Given the description of an element on the screen output the (x, y) to click on. 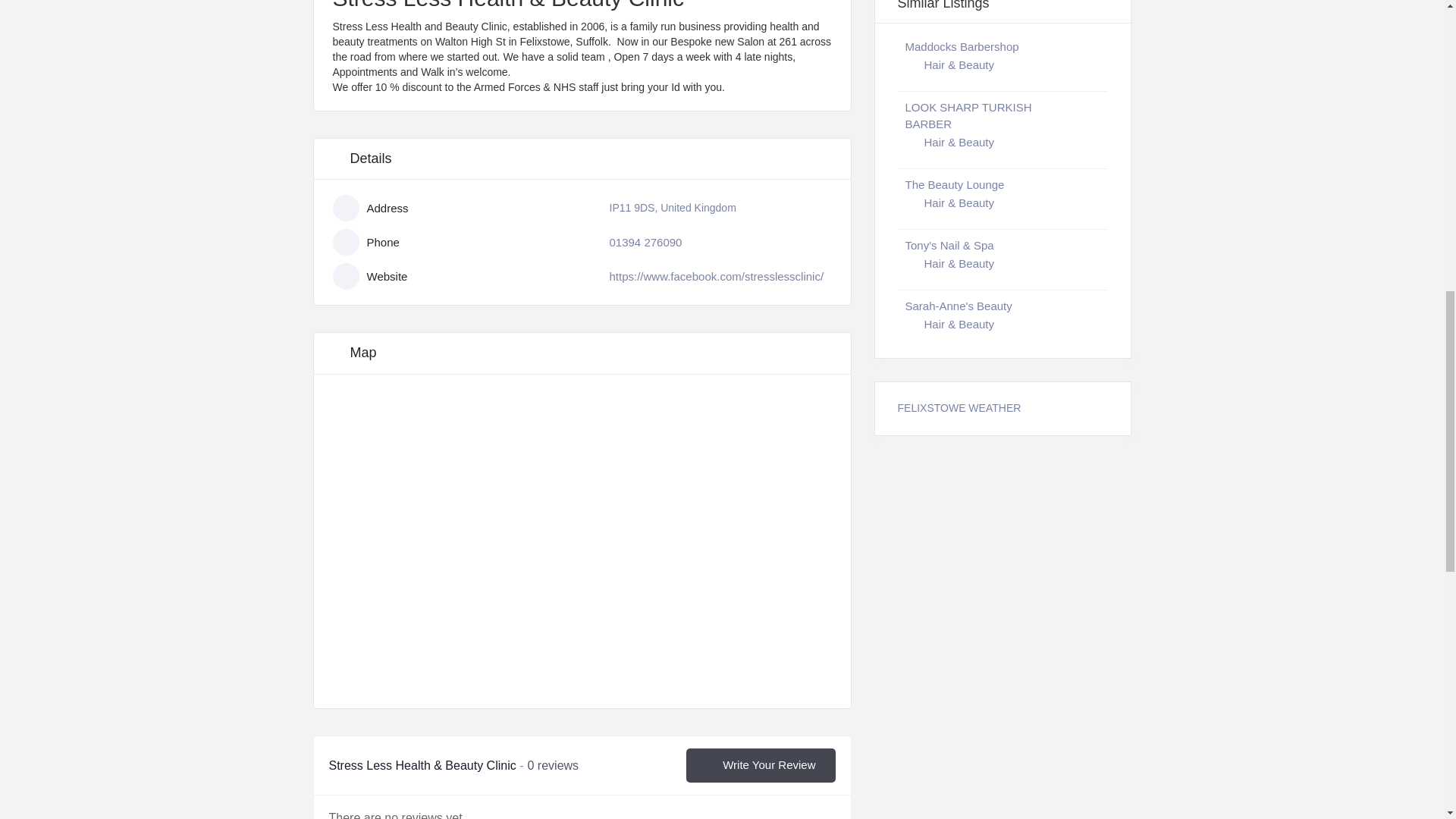
Maddocks Barbershop (962, 46)
01394 276090 (646, 241)
The Beauty Lounge (954, 184)
Write Your Review (759, 765)
LOOK SHARP TURKISH BARBER (968, 115)
